Given the description of an element on the screen output the (x, y) to click on. 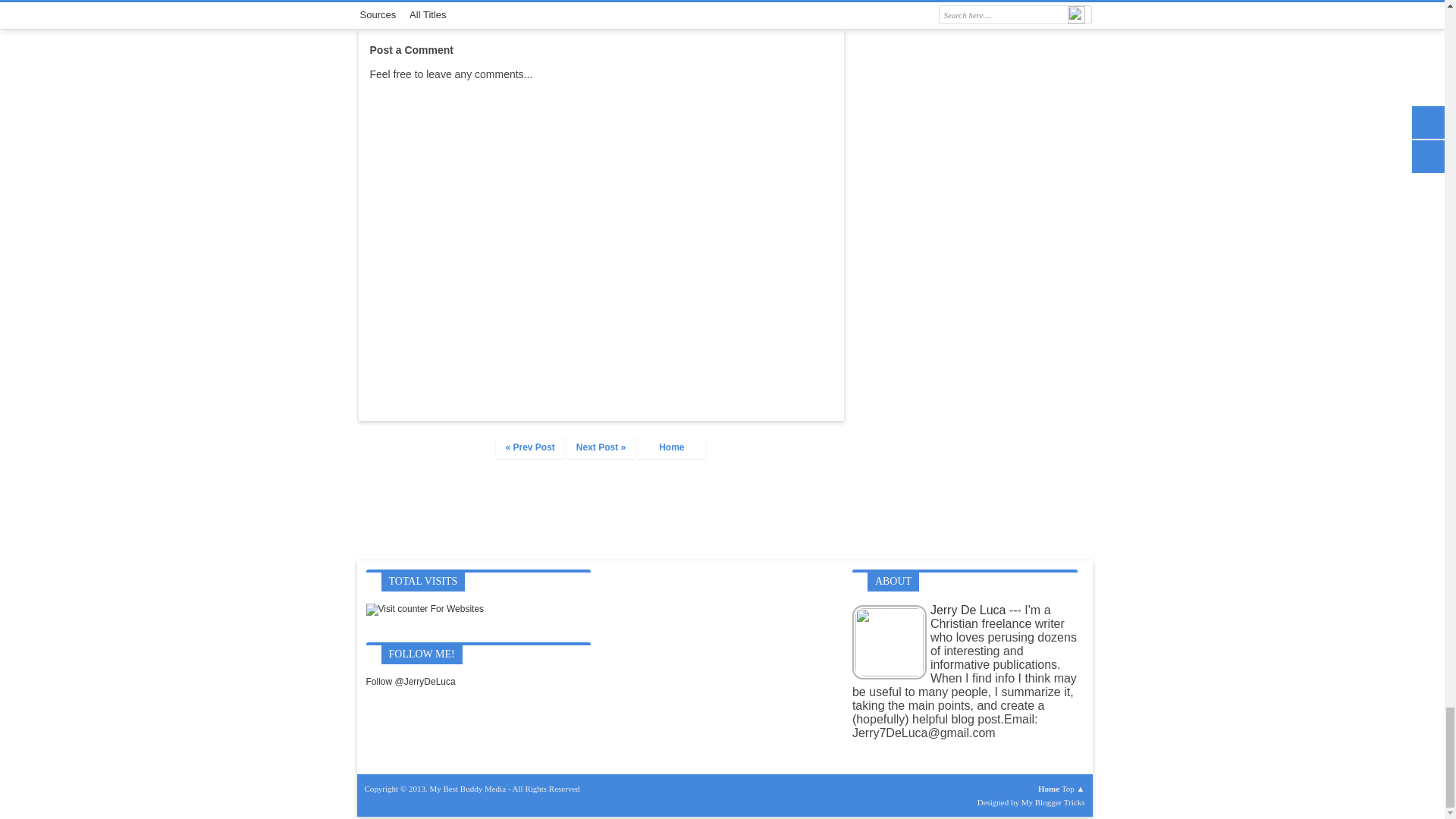
Next Post (600, 446)
My Best Buddy Media (467, 788)
Counter Widget (424, 609)
Previous Post (530, 446)
